Given the description of an element on the screen output the (x, y) to click on. 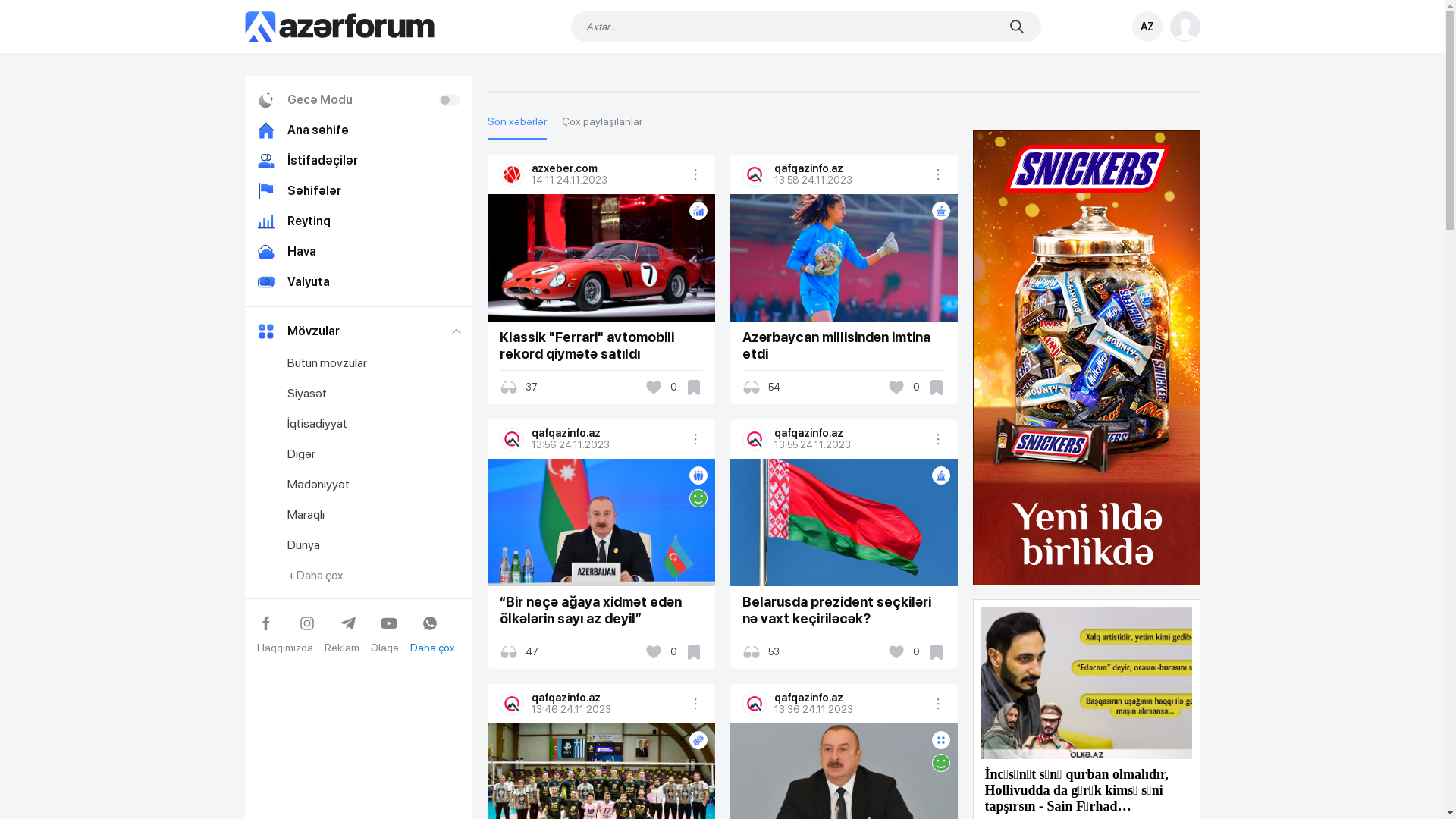
Hava Element type: text (357, 251)
qafqazinfo.az Element type: hover (754, 703)
qafqazinfo.az Element type: hover (511, 703)
Valyuta Element type: text (357, 282)
qafqazinfo.az Element type: text (849, 432)
positive Element type: hover (940, 762)
Reytinq Element type: text (357, 221)
qafqazinfo.az Element type: text (607, 697)
qafqazinfo.az Element type: hover (511, 438)
qafqazinfo.az Element type: hover (754, 174)
qafqazinfo.az Element type: hover (754, 438)
qafqazinfo.az Element type: text (849, 168)
azxeber.com Element type: hover (511, 174)
qafqazinfo.az Element type: text (607, 432)
azxeber.com Element type: text (607, 168)
Reklam Element type: text (341, 647)
positive Element type: hover (697, 498)
qafqazinfo.az Element type: text (849, 697)
